Given the description of an element on the screen output the (x, y) to click on. 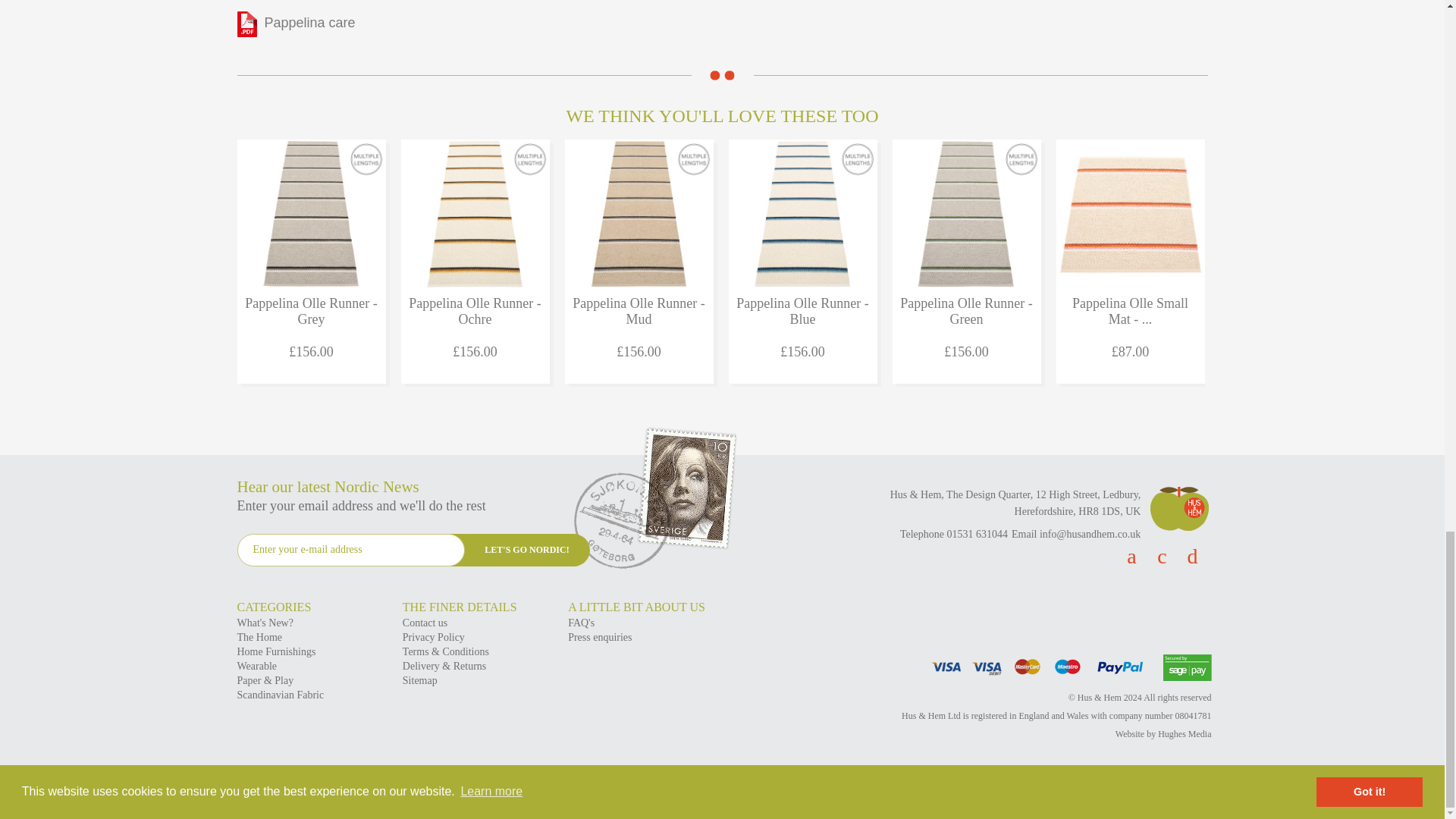
Enter your e-mail address (349, 549)
